Given the description of an element on the screen output the (x, y) to click on. 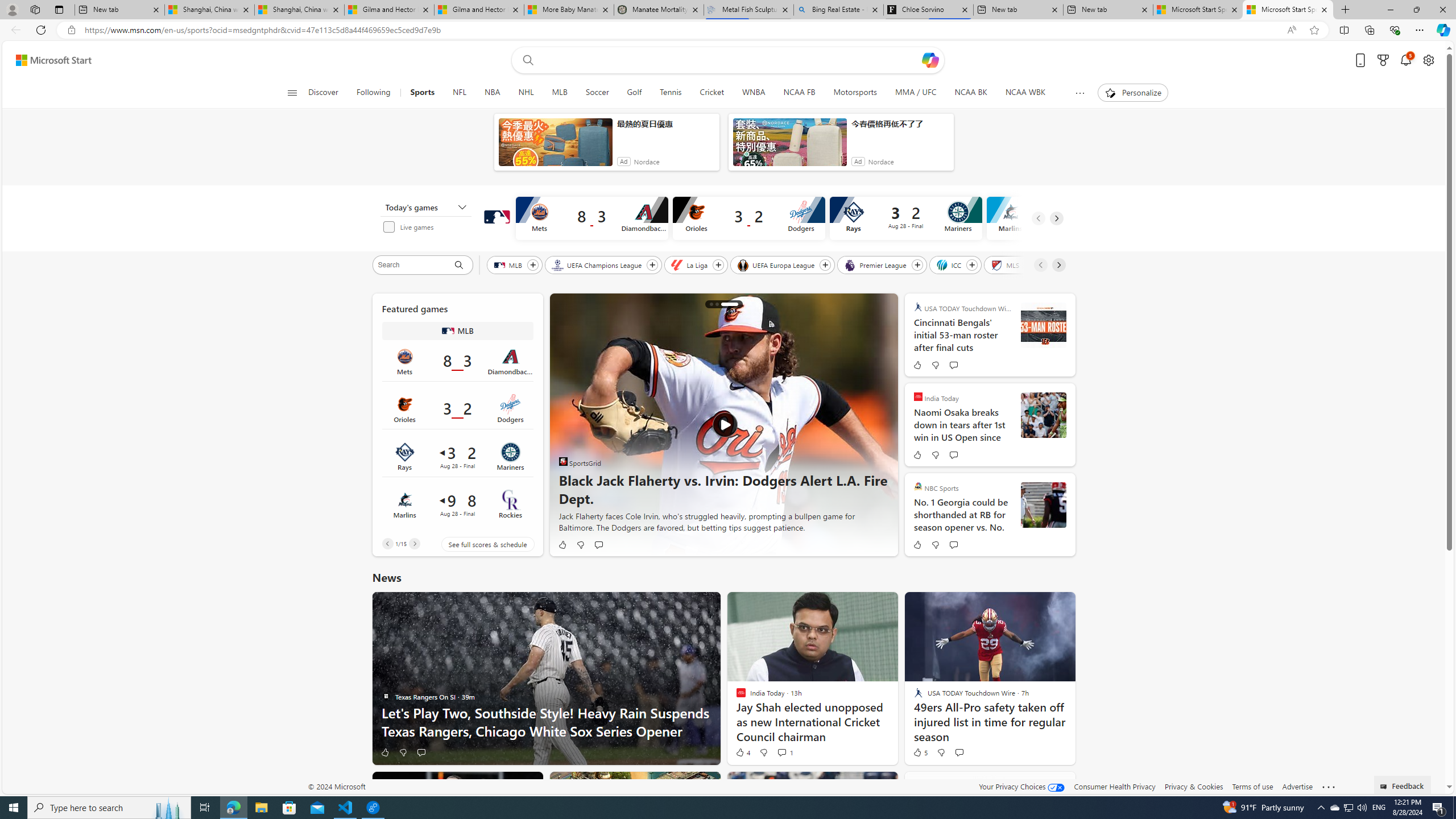
SportsGrid (563, 461)
MLS (1005, 264)
Terms of use (1252, 786)
UEFA Champions League (597, 264)
Cricket (710, 92)
Read aloud this page (Ctrl+Shift+U) (1291, 29)
Cricket (711, 92)
Feedback (1402, 784)
Web search (526, 60)
Soccer (596, 92)
Gilma and Hector both pose tropical trouble for Hawaii (478, 9)
Dislike (940, 752)
